Given the description of an element on the screen output the (x, y) to click on. 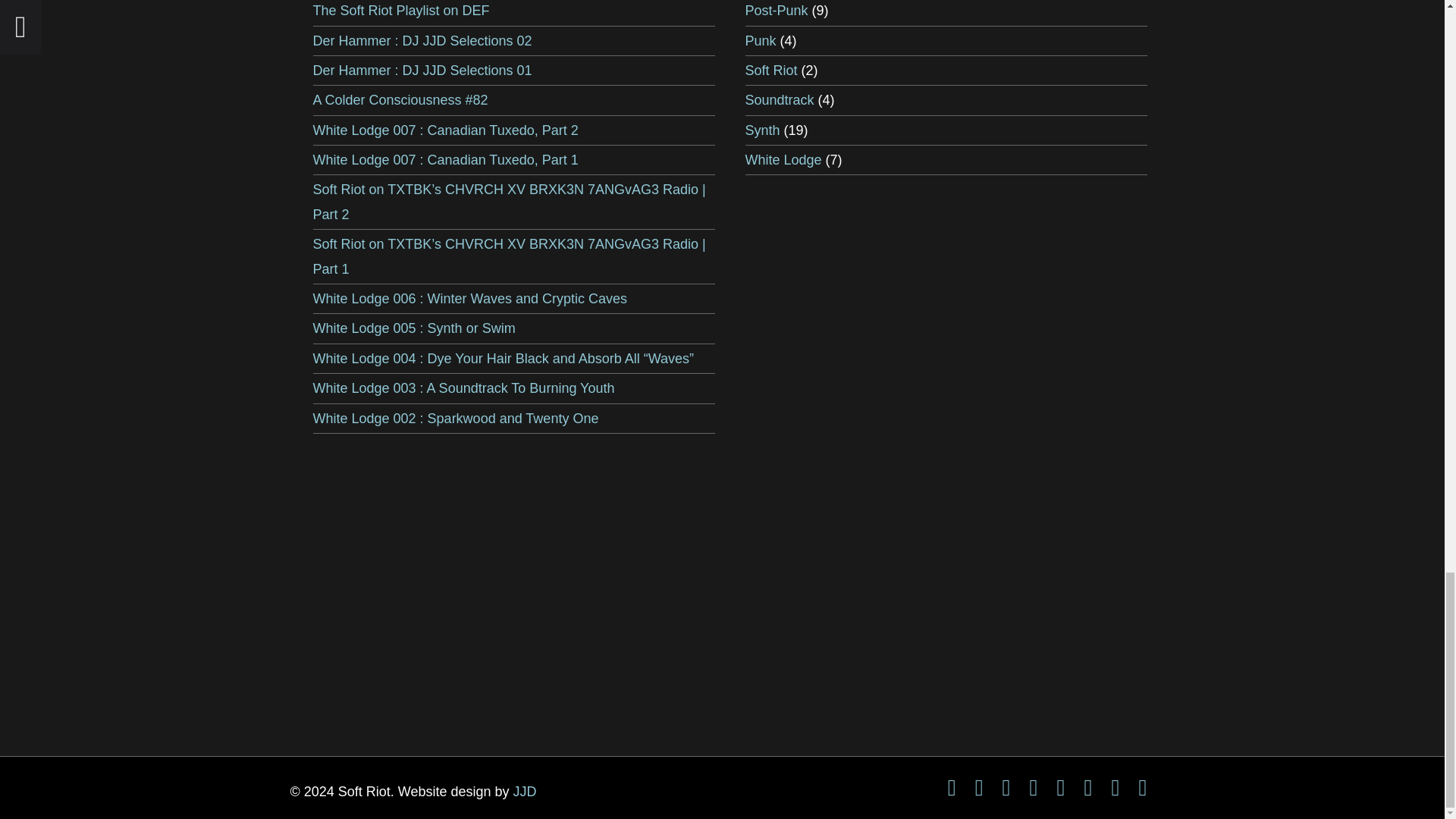
White Lodge 007 : Canadian Tuxedo, Part 2 (445, 130)
The Soft Riot Playlist on DEF (401, 10)
Der Hammer : DJ JJD Selections 02 (422, 40)
Der Hammer : DJ JJD Selections 01 (422, 70)
White Lodge 007 : Canadian Tuxedo, Part 1 (445, 159)
